Given the description of an element on the screen output the (x, y) to click on. 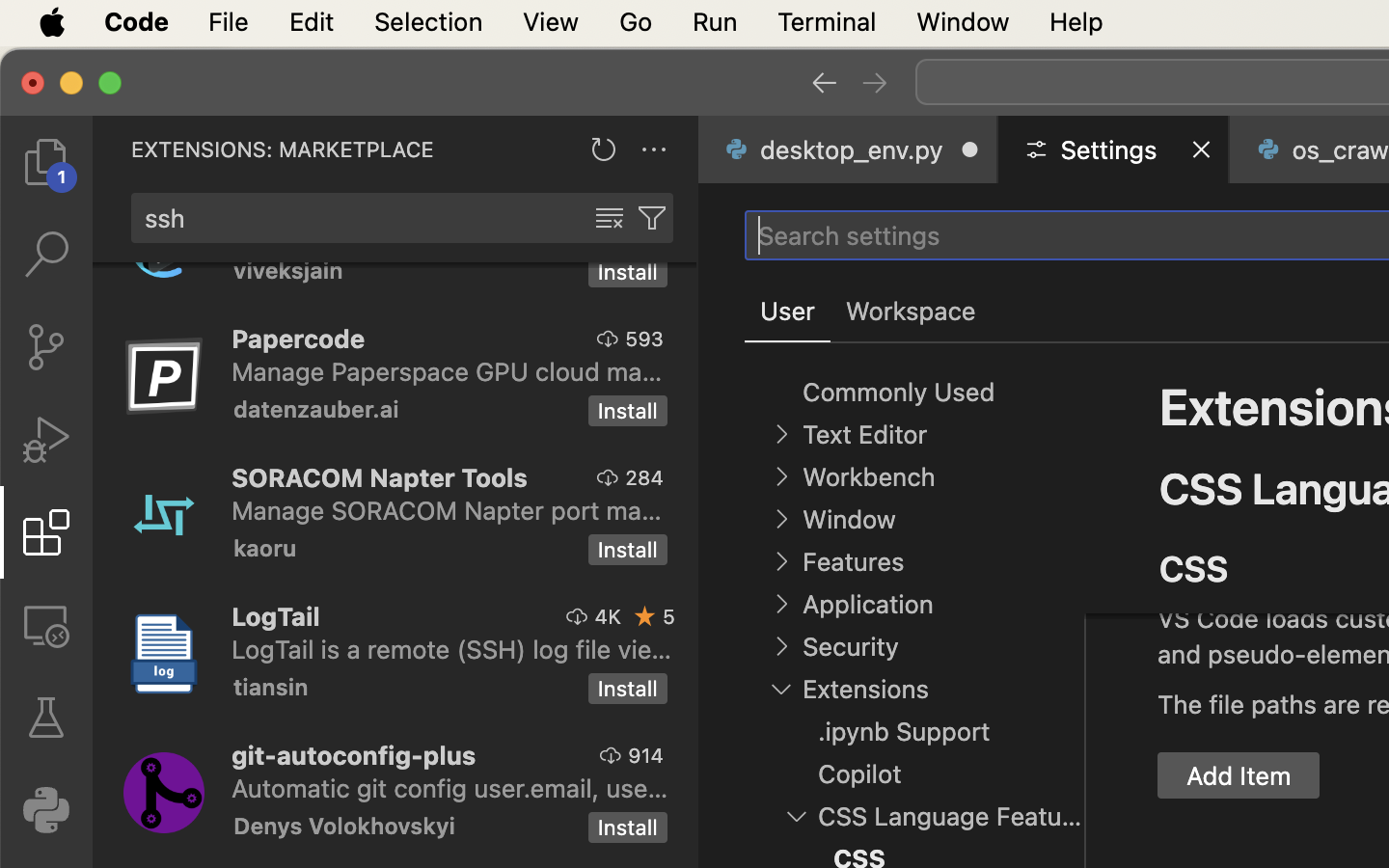
Workbench Element type: AXStaticText (868, 476)
Custom Data Element type: AXStaticText (1236, 523)
 Element type: AXButton (824, 82)
Text Editor Element type: AXStaticText (864, 434)
Manage SORACOM Napter port mappings from Visual Studio Code. Element type: AXStaticText (446, 509)
